Given the description of an element on the screen output the (x, y) to click on. 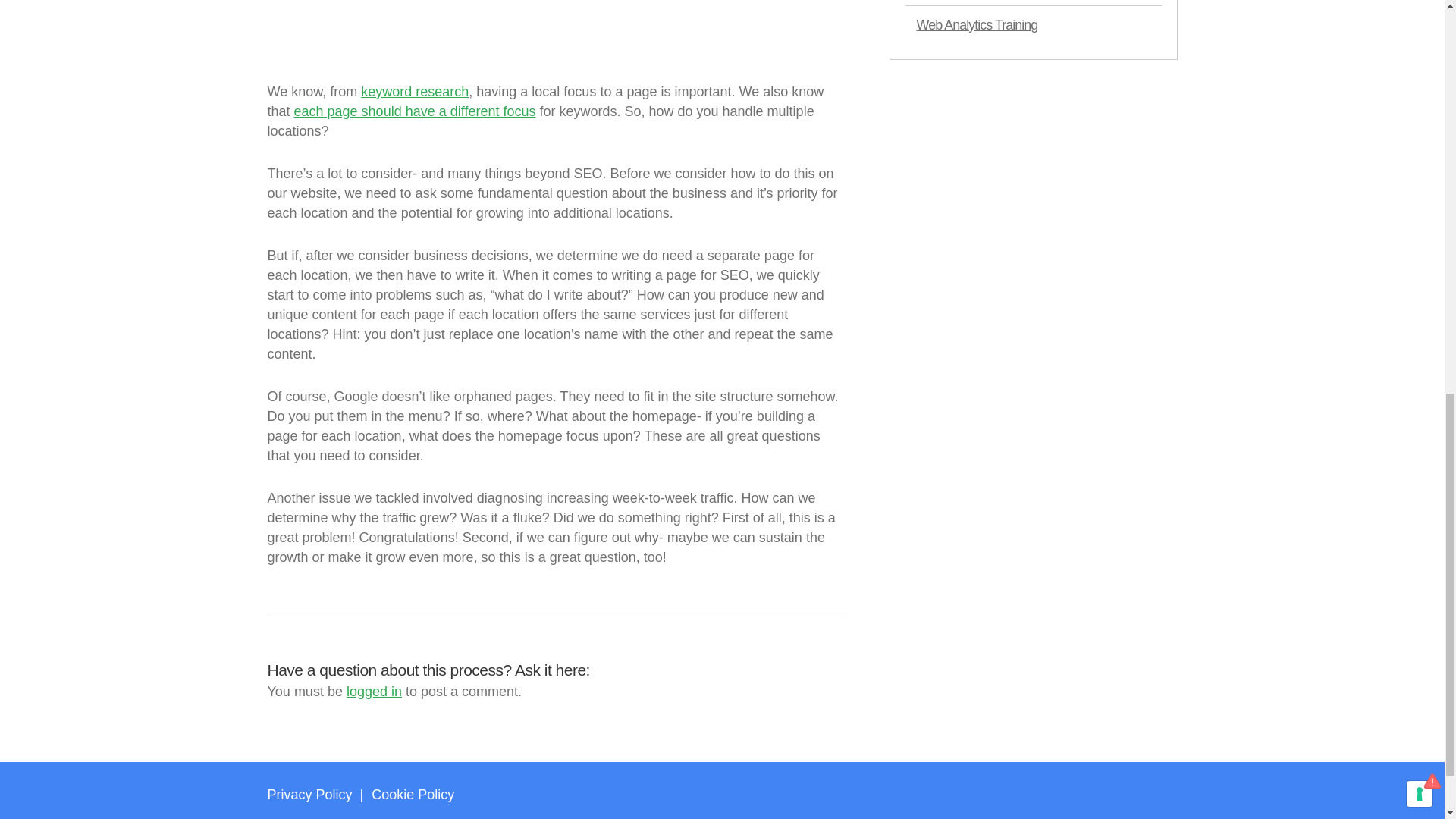
logged in (373, 691)
Should I build a page on my website for every location? (456, 38)
keyword research (414, 91)
each page should have a different focus (414, 111)
